Given the description of an element on the screen output the (x, y) to click on. 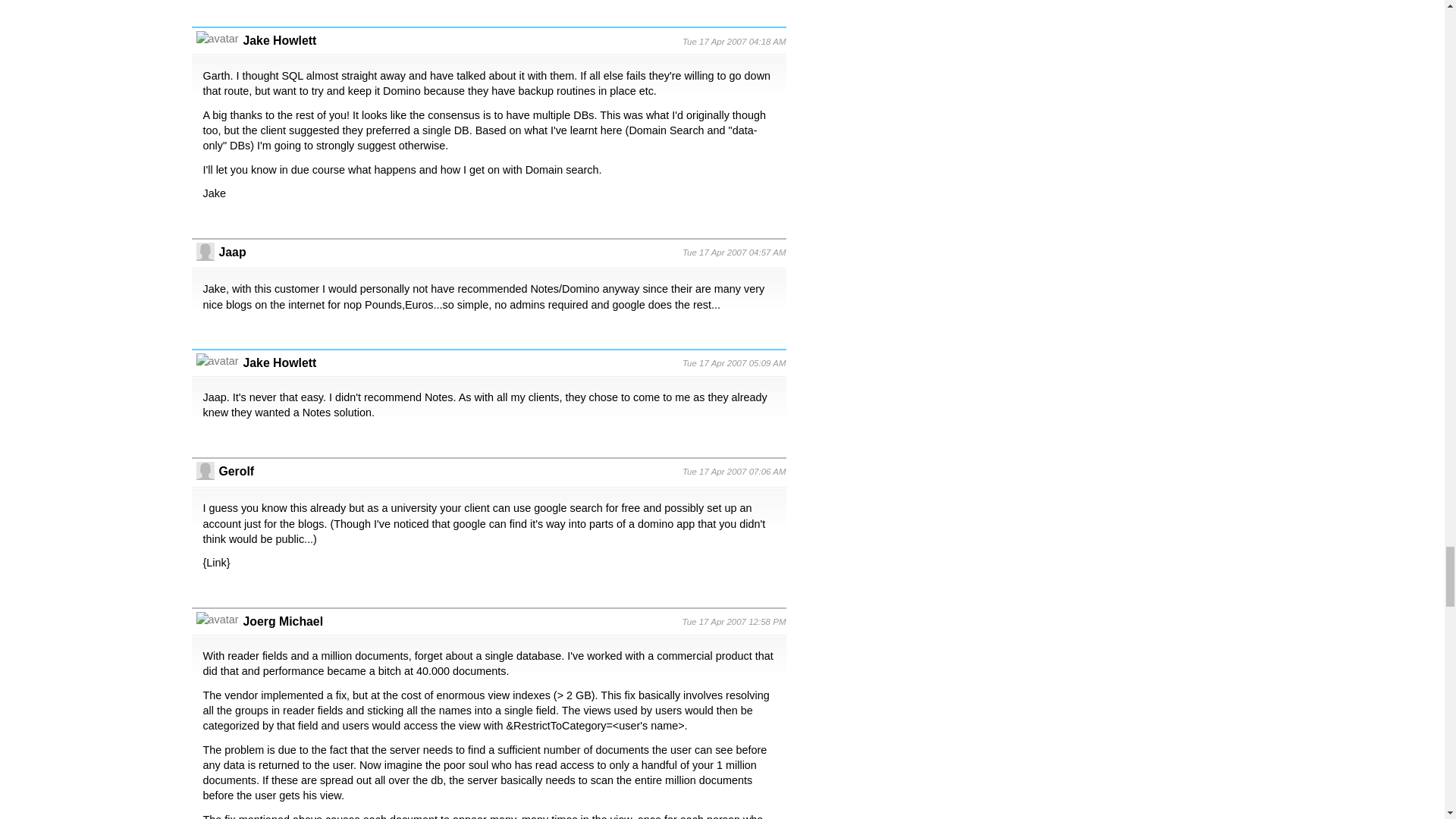
Link (215, 562)
